Given the description of an element on the screen output the (x, y) to click on. 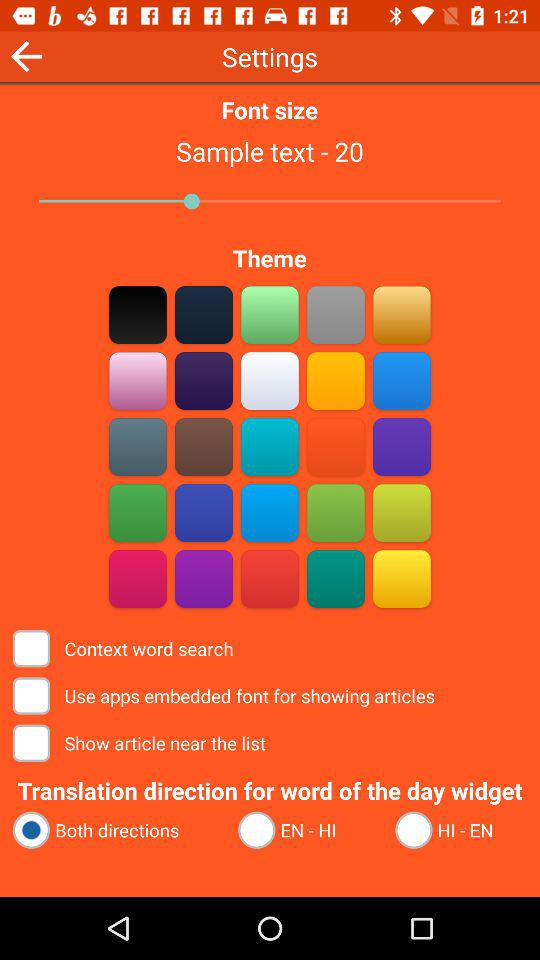
go to wallpaper theme (137, 446)
